Given the description of an element on the screen output the (x, y) to click on. 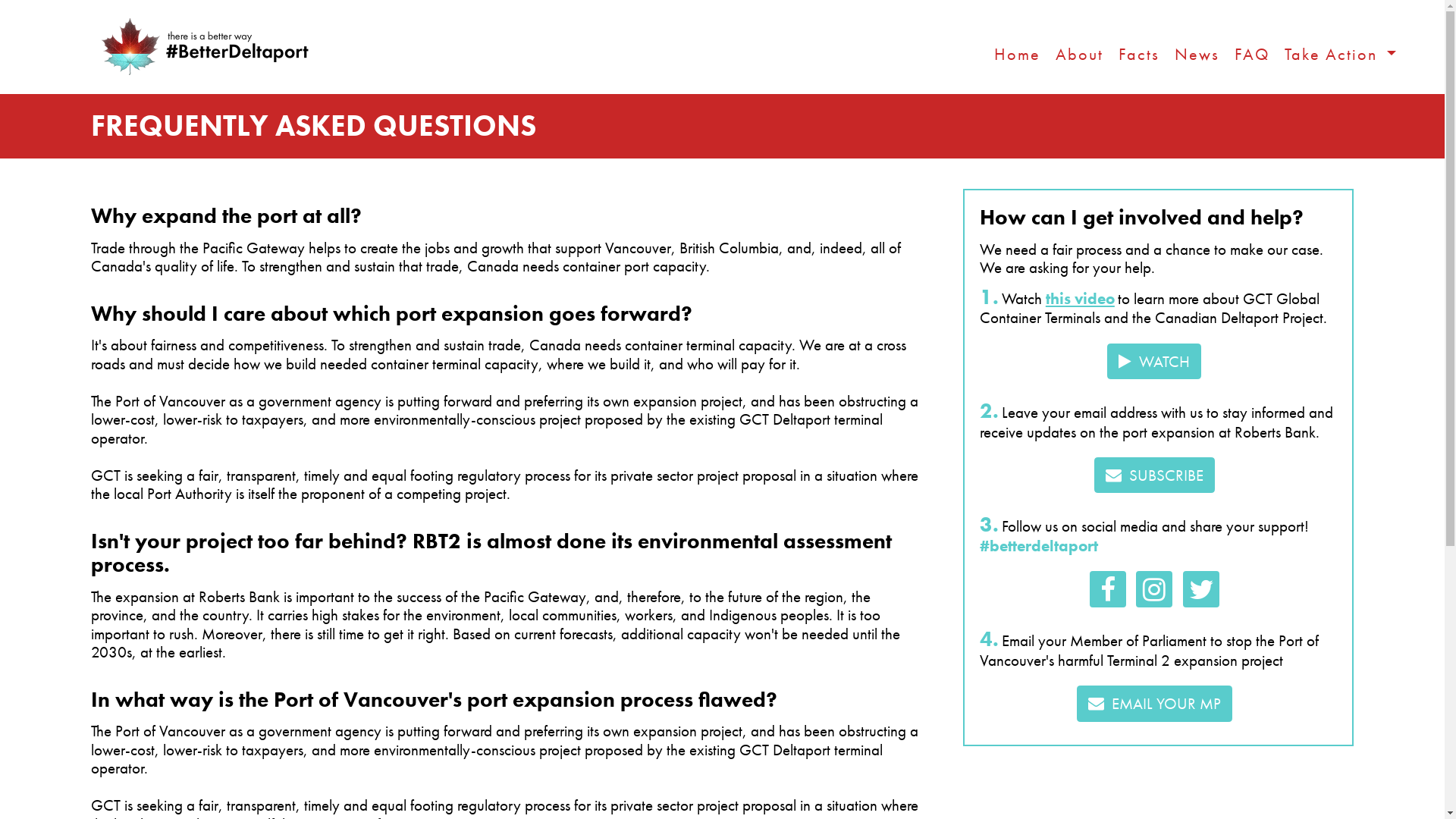
WATCH Element type: text (1154, 361)
this video Element type: text (1079, 298)
About Element type: text (1079, 53)
News Element type: text (1196, 53)
Home Element type: text (1017, 53)
EMAIL YOUR MP Element type: text (1154, 703)
Take Action Element type: text (1340, 53)
SUBSCRIBE Element type: text (1154, 475)
FAQ Element type: text (1251, 53)
Facts Element type: text (1138, 53)
